Given the description of an element on the screen output the (x, y) to click on. 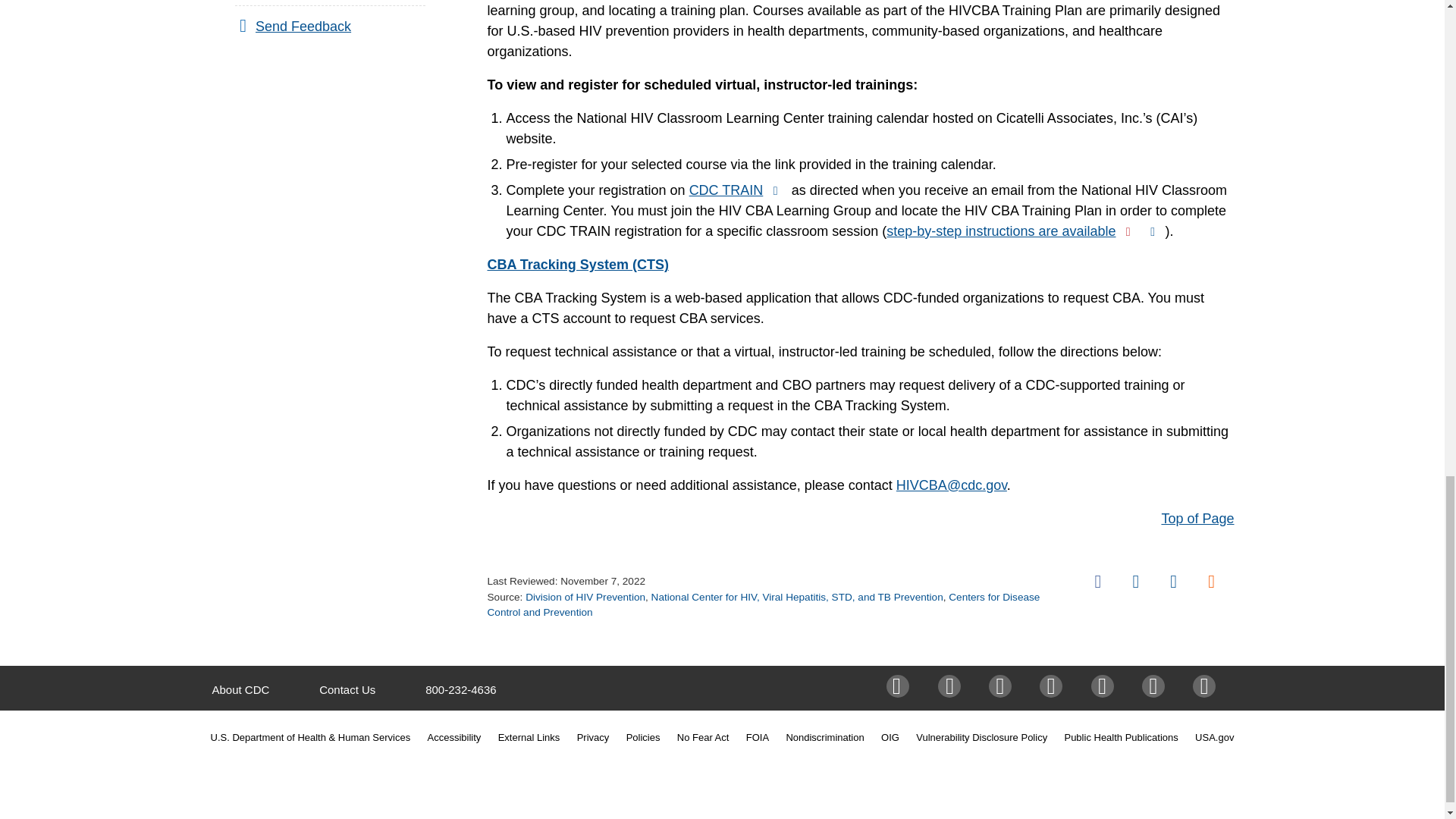
Division of HIV Prevention (585, 596)
step-by-step instructions are available (1025, 231)
Top of Page (1196, 518)
CDC TRAIN (737, 190)
Centers for Disease Control and Prevention (762, 604)
